Given the description of an element on the screen output the (x, y) to click on. 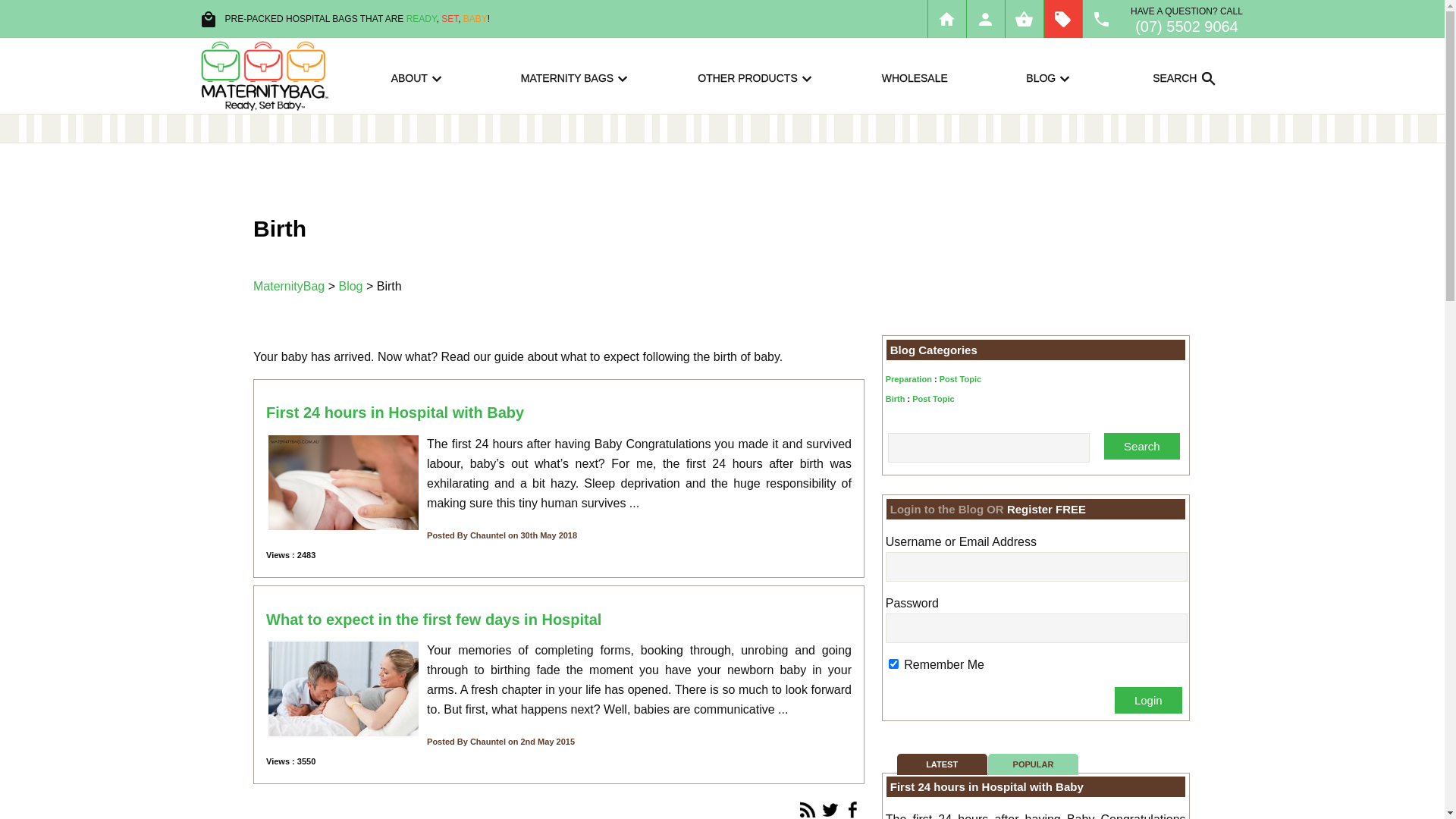
Post Topic Element type: text (932, 398)
home Element type: text (947, 18)
Preparation Element type: text (908, 378)
Login Element type: text (1148, 700)
Blog Categories Element type: text (933, 349)
shopping_basket Element type: text (1024, 18)
SEARCH Element type: text (1198, 131)
phone Element type: text (1101, 18)
First 24 hours in Hospital with Baby Element type: text (986, 786)
OTHER PRODUCTSexpand_more Element type: text (756, 78)
SEARCH search Element type: text (1185, 78)
(07) 5502 9064 Element type: text (1186, 26)
ABOUTexpand_more Element type: text (418, 78)
person Element type: text (985, 18)
What to expect in the first few days in Hospital Element type: text (433, 619)
First 24 hours in Hospital with Baby Element type: text (395, 412)
WHOLESALE Element type: text (914, 78)
Blog Element type: text (350, 285)
Birth Element type: text (895, 398)
Post Topic Element type: text (960, 378)
LATEST Element type: text (942, 764)
POPULAR Element type: text (1033, 764)
Register FREE Element type: text (1046, 508)
local_offer Element type: text (1062, 18)
BLOGexpand_more Element type: text (1050, 78)
Search Element type: text (1141, 446)
MaternityBag Element type: text (288, 285)
MATERNITY BAGSexpand_more Element type: text (576, 78)
